Given the description of an element on the screen output the (x, y) to click on. 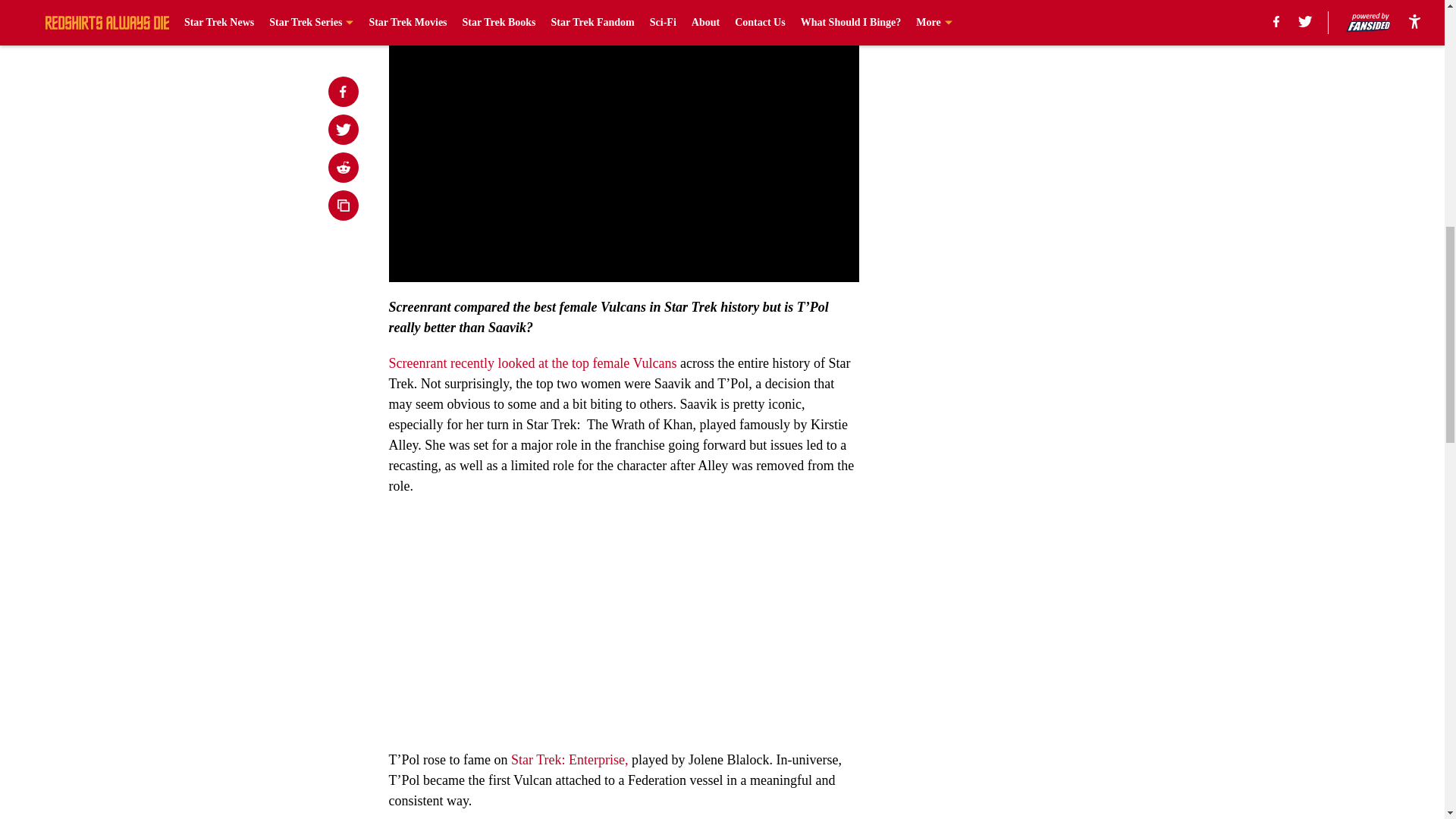
Star Trek: Enterprise, (566, 759)
Screenrant recently looked at the top female Vulcans (532, 363)
